Given the description of an element on the screen output the (x, y) to click on. 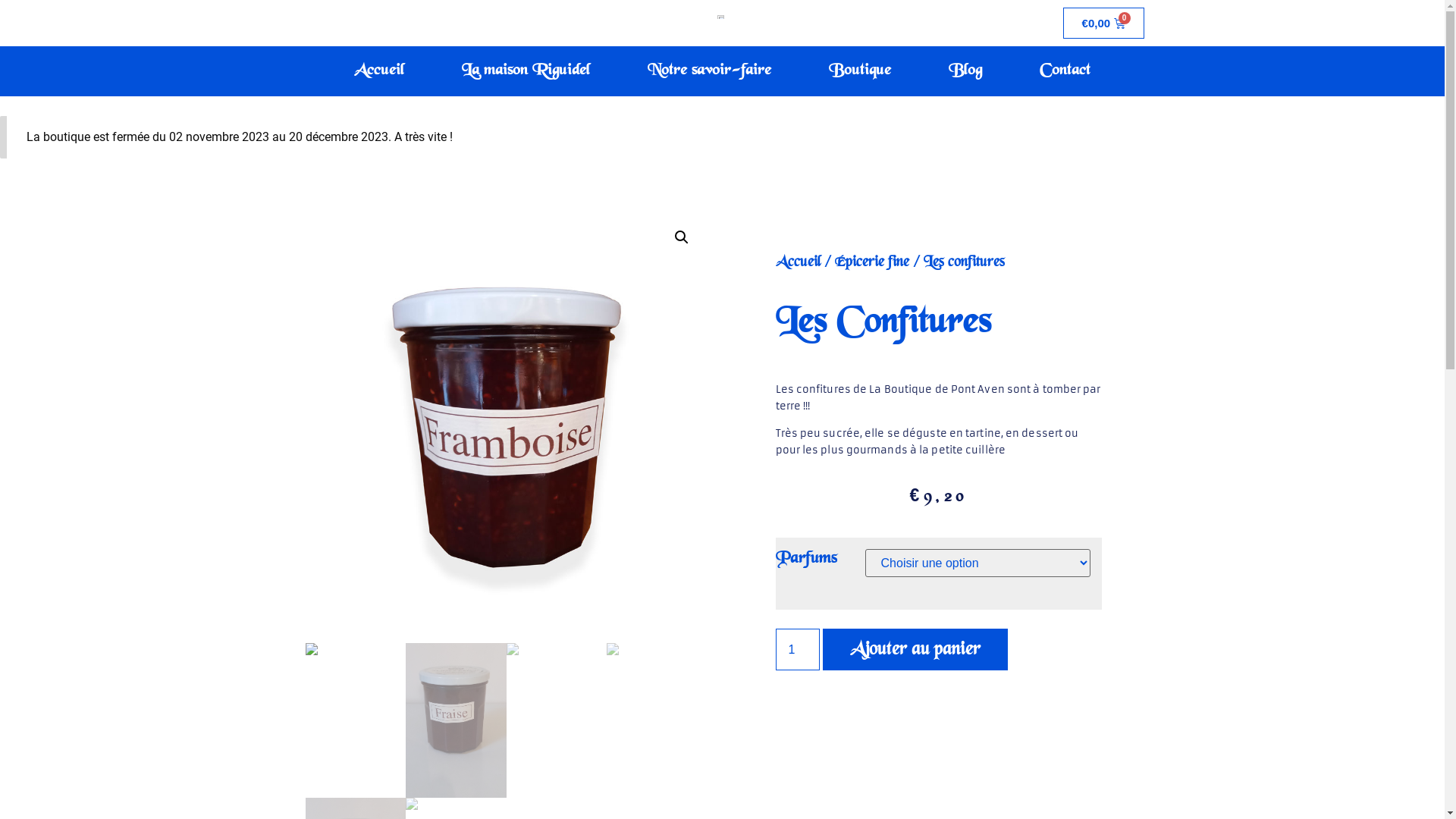
Contact Element type: text (1064, 70)
Accueil Element type: text (797, 261)
confiture-maison Element type: hover (505, 427)
Notre savoir-faire Element type: text (709, 70)
Ajouter au panier Element type: text (914, 649)
La maison Riguidel Element type: text (525, 70)
Boutique Element type: text (859, 70)
Accueil Element type: text (378, 70)
Blog Element type: text (965, 70)
